Given the description of an element on the screen output the (x, y) to click on. 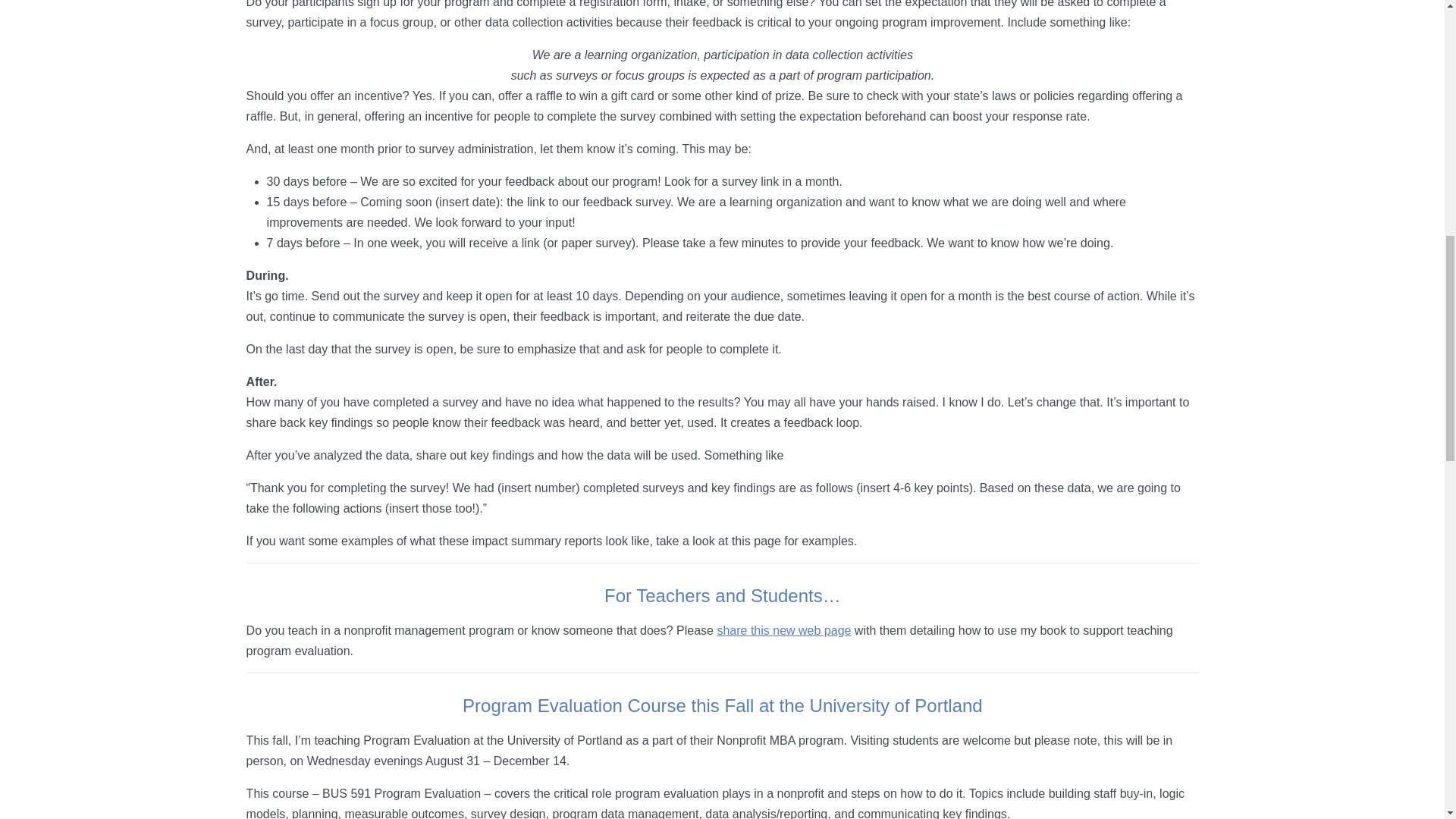
share this new web page (783, 630)
